Given the description of an element on the screen output the (x, y) to click on. 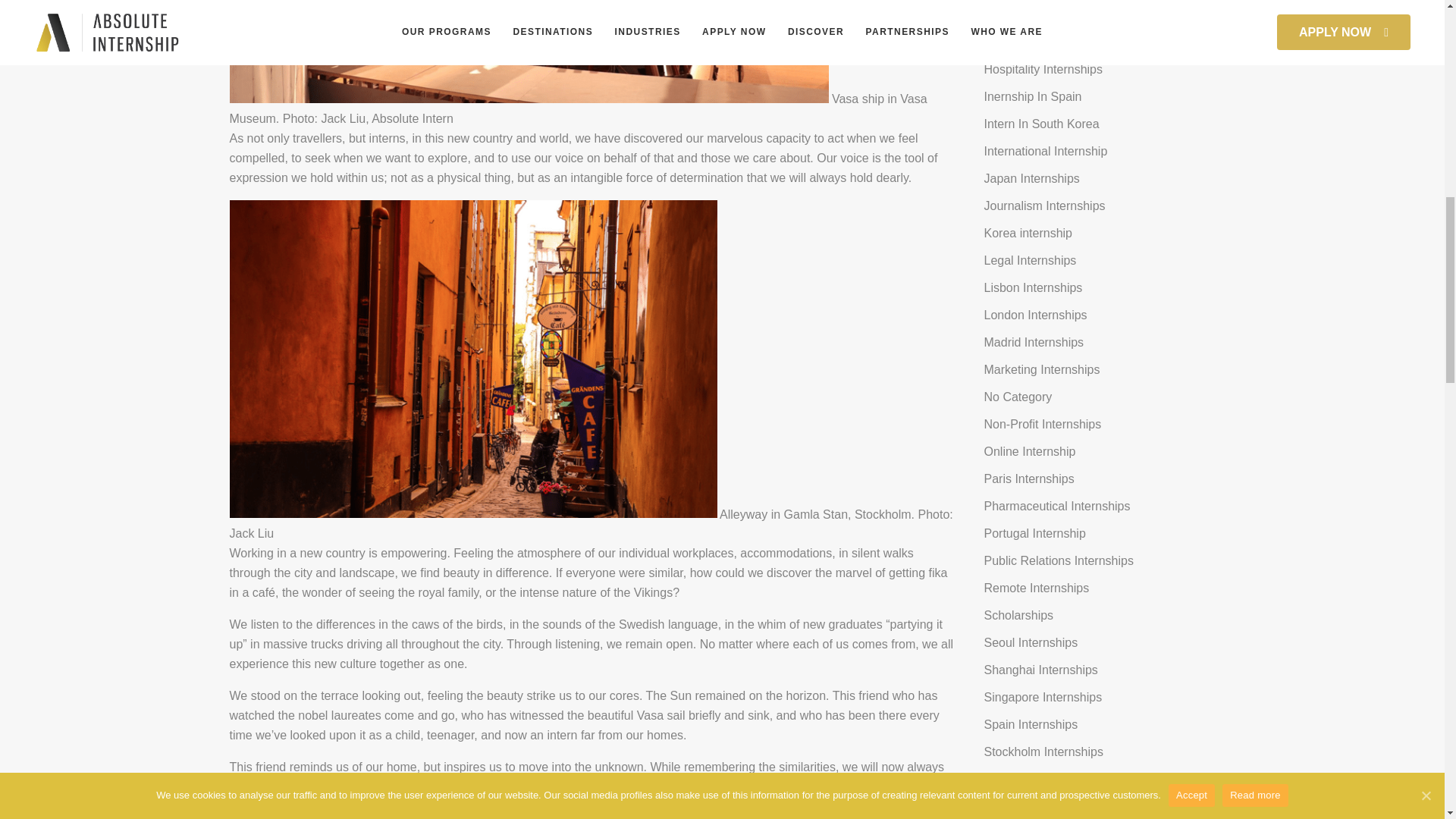
Page 3 (590, 644)
Page 3 (590, 752)
